Given the description of an element on the screen output the (x, y) to click on. 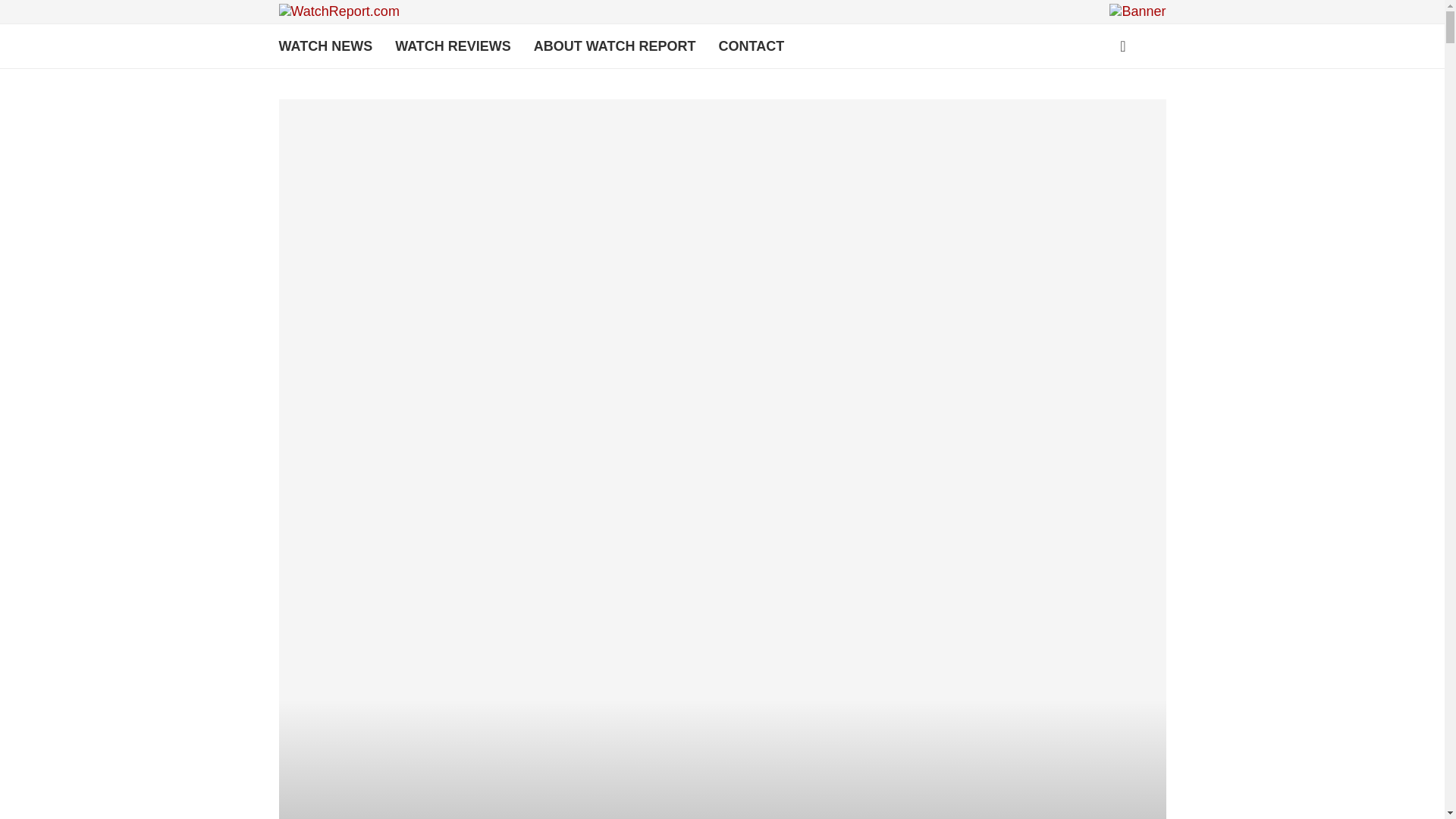
CONTACT (750, 45)
WATCH NEWS (325, 45)
ABOUT WATCH REPORT (614, 45)
WATCH REVIEWS (452, 45)
